Given the description of an element on the screen output the (x, y) to click on. 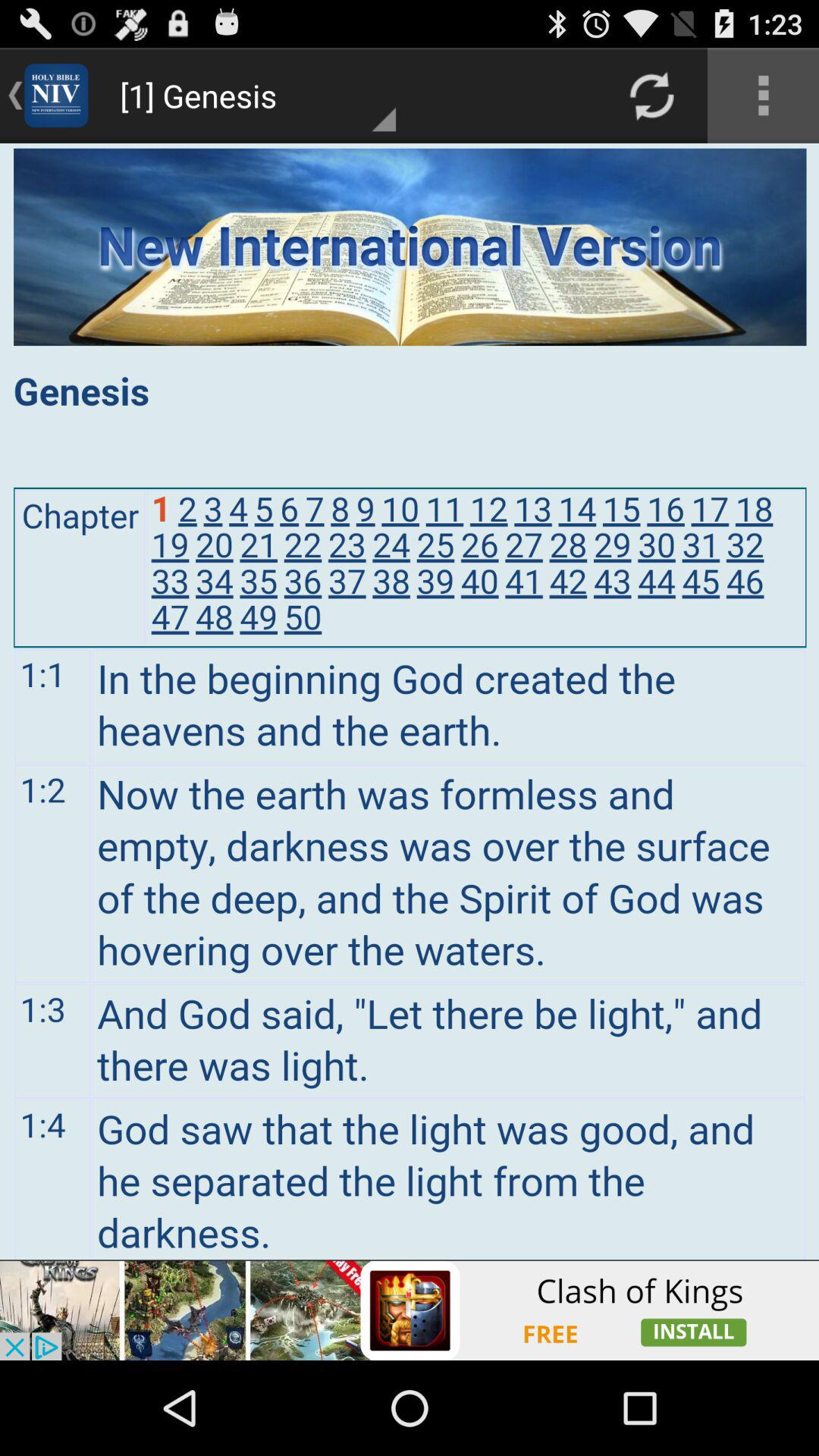
advertisement (409, 1310)
